Given the description of an element on the screen output the (x, y) to click on. 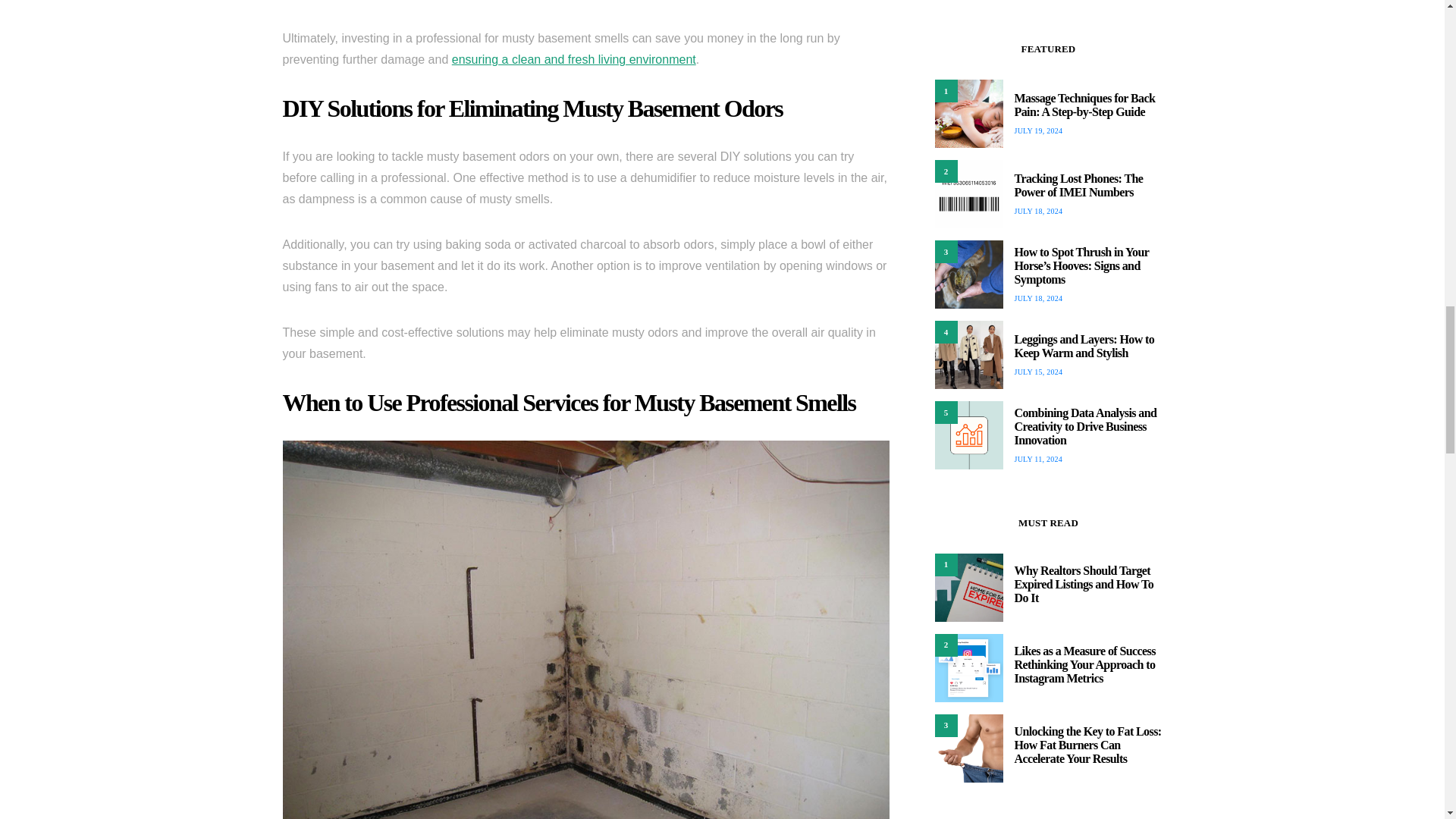
ensuring a clean and fresh living environment (573, 59)
